Given the description of an element on the screen output the (x, y) to click on. 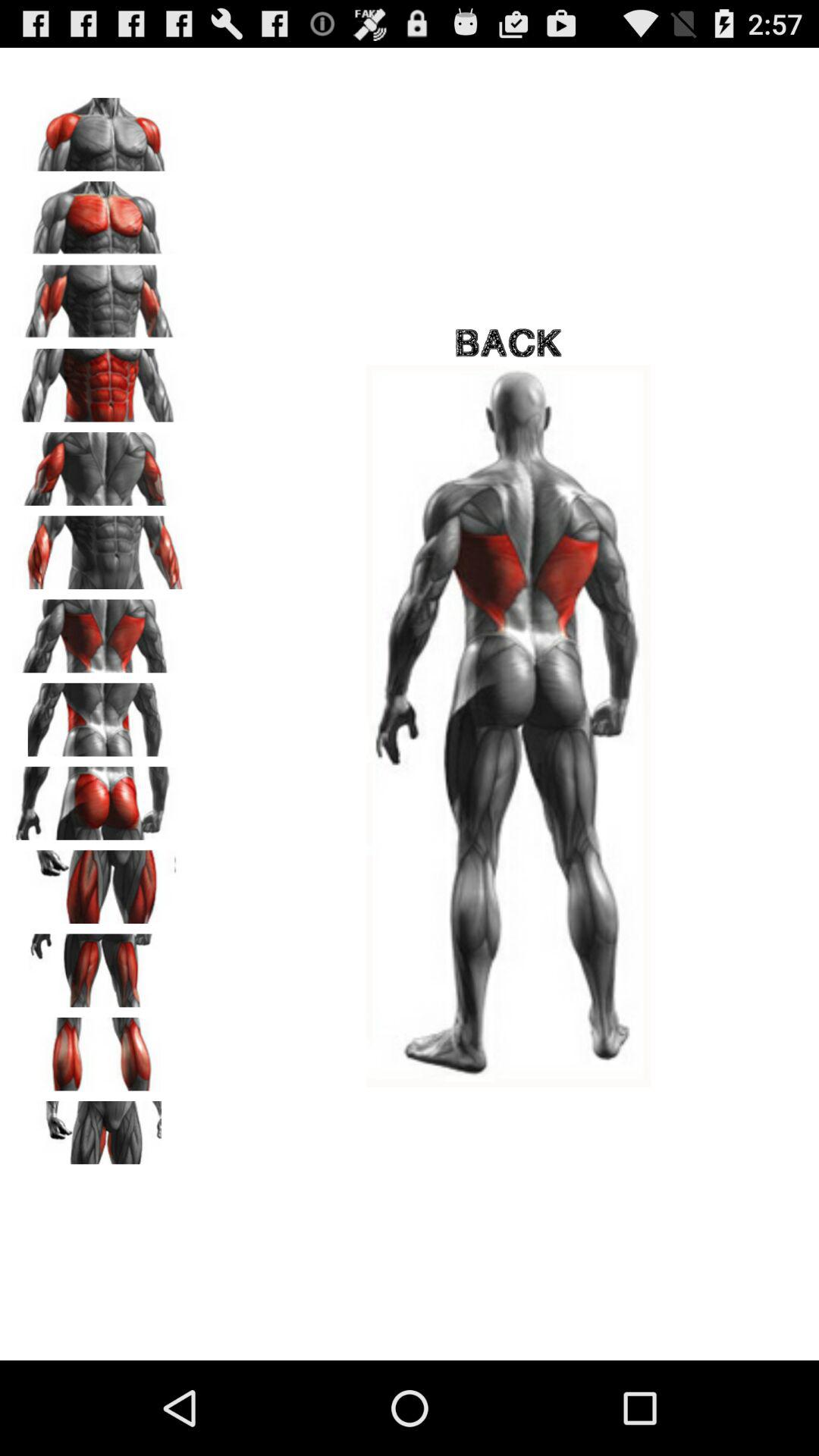
body part selection (99, 129)
